Given the description of an element on the screen output the (x, y) to click on. 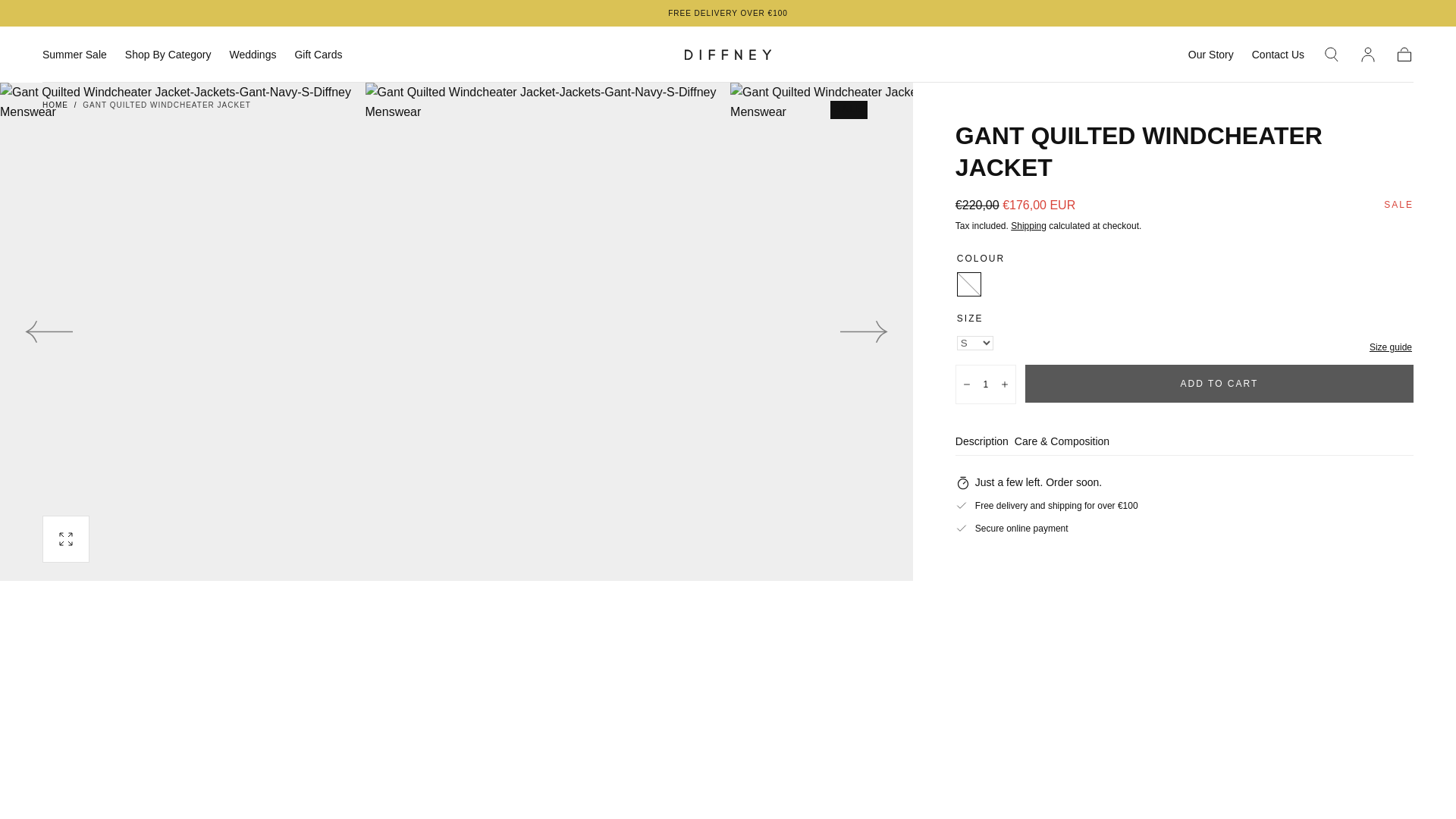
1 (985, 384)
SKIP TO CONTENT (67, 18)
